Given the description of an element on the screen output the (x, y) to click on. 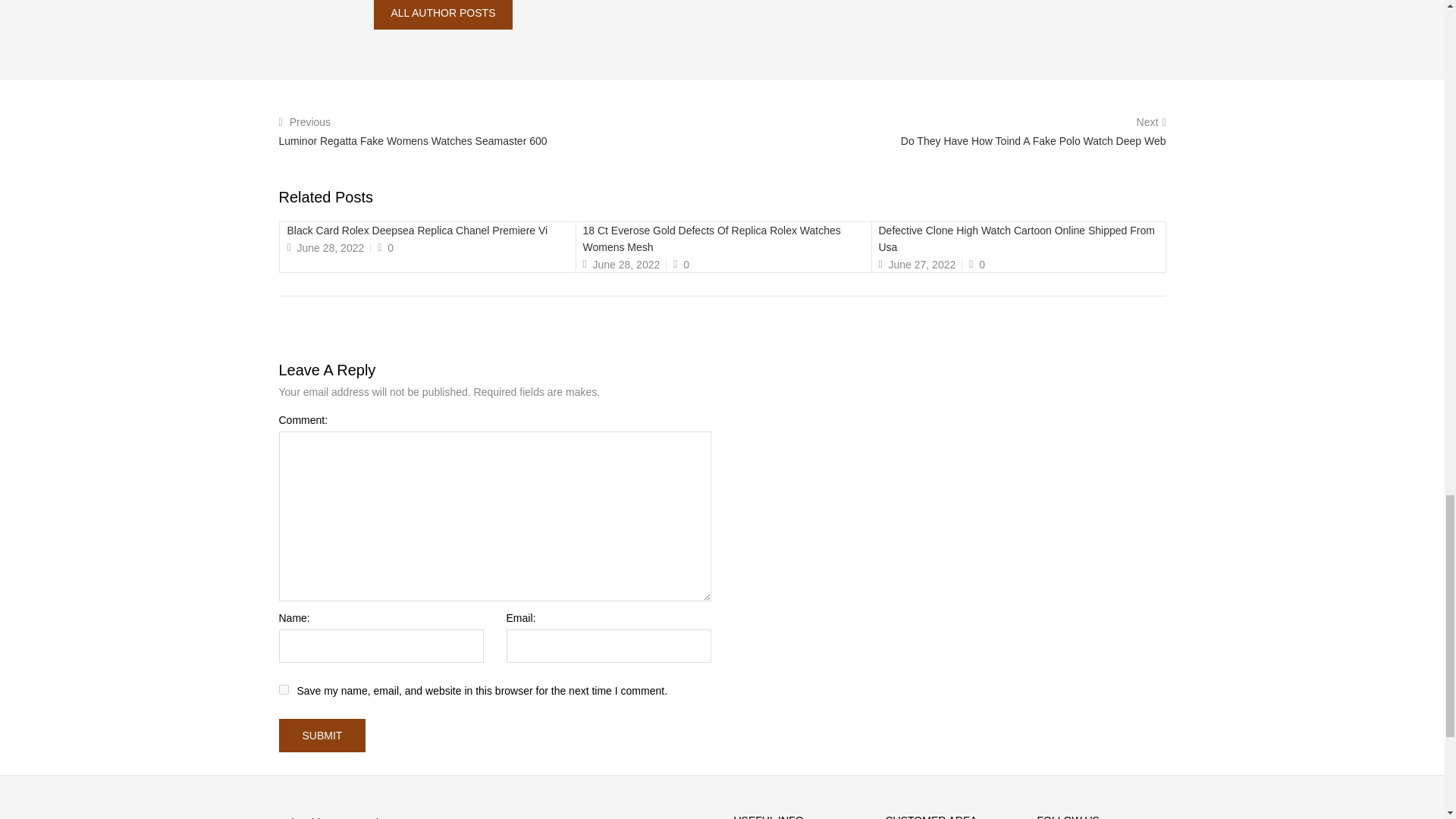
submit (322, 735)
yes (283, 689)
